Given the description of an element on the screen output the (x, y) to click on. 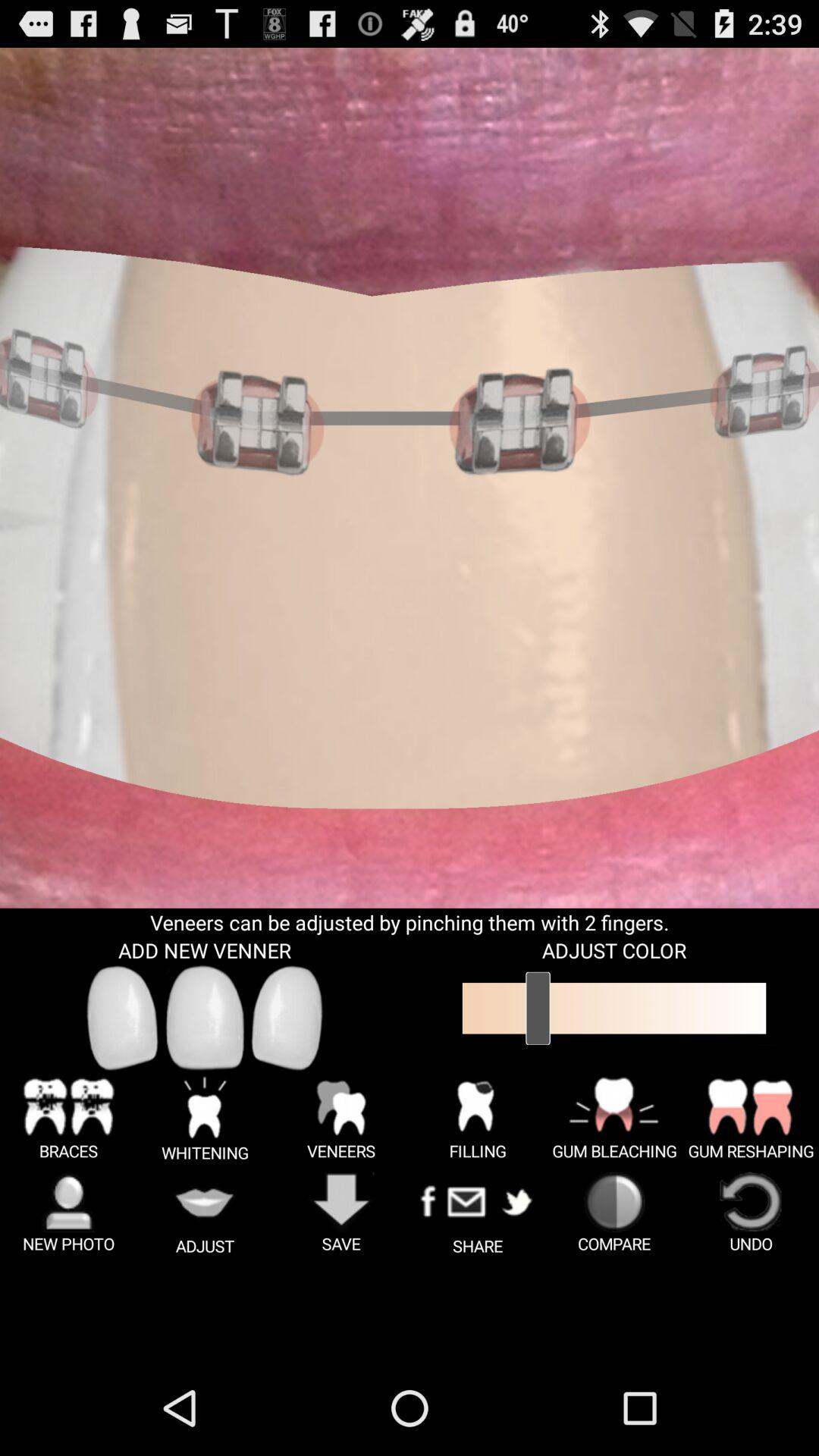
add center venner (204, 1017)
